Given the description of an element on the screen output the (x, y) to click on. 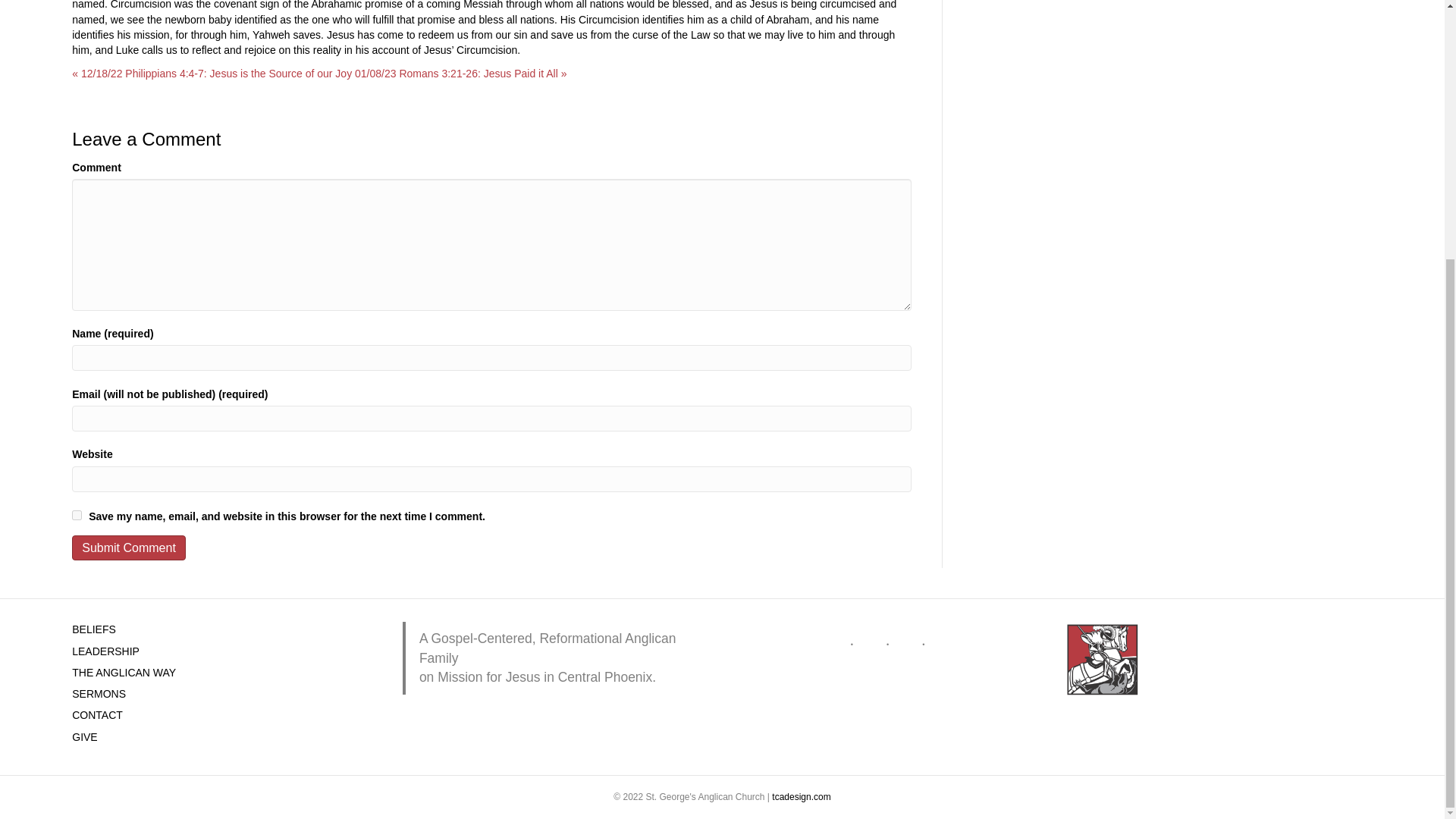
Submit Comment (128, 547)
LEADERSHIP (105, 651)
Submit Comment (128, 547)
CONTACT (96, 715)
GIVE (84, 736)
THE ANGLICAN WAY (123, 672)
tcadesign.com (800, 796)
SERMONS (98, 693)
yes (76, 515)
BELIEFS (93, 629)
